Given the description of an element on the screen output the (x, y) to click on. 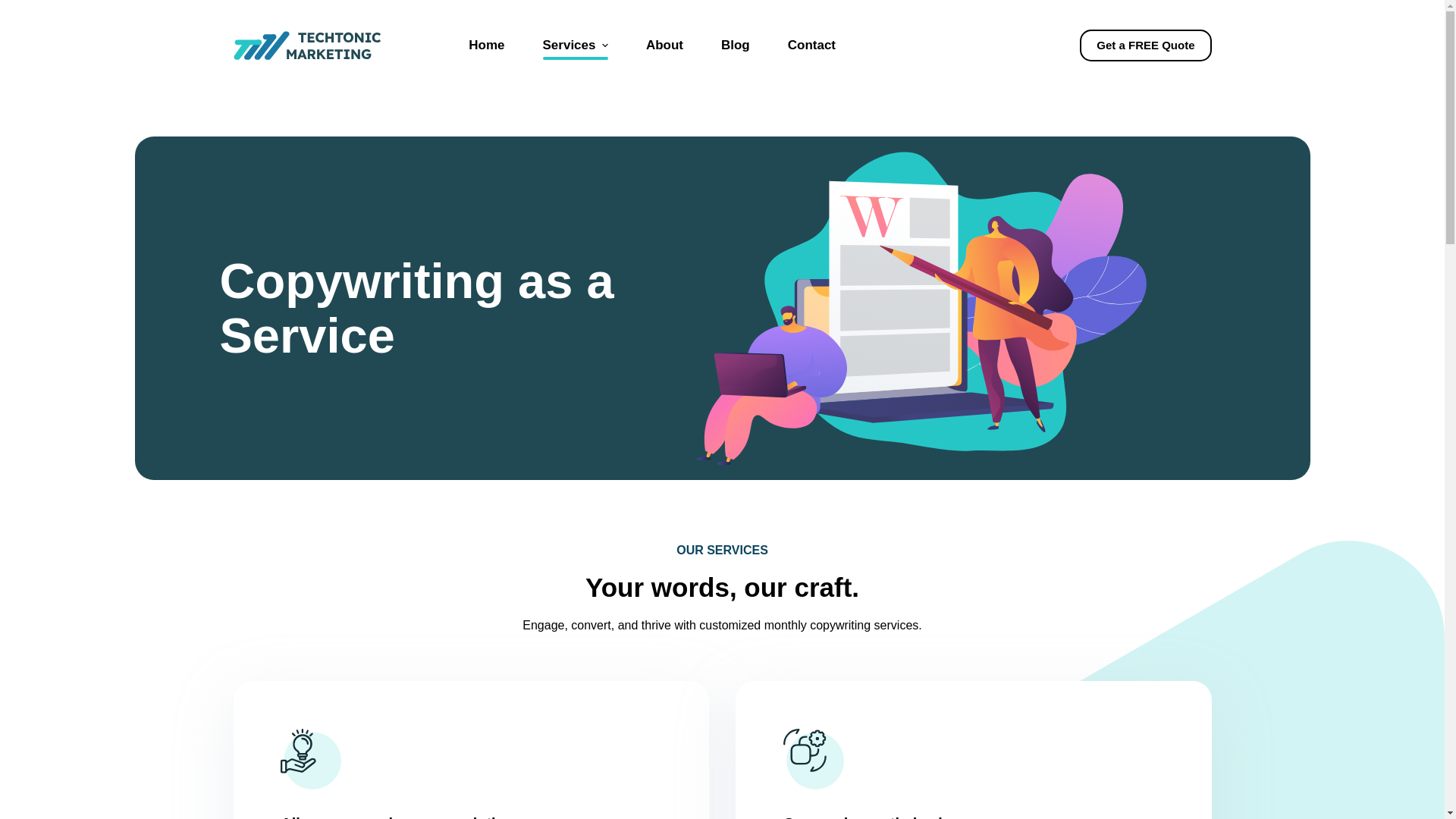
Skip to content (15, 7)
About (664, 45)
Services (575, 45)
Blog (734, 45)
Home (485, 45)
Contact (811, 45)
Get a FREE Quote (1145, 45)
